Given the description of an element on the screen output the (x, y) to click on. 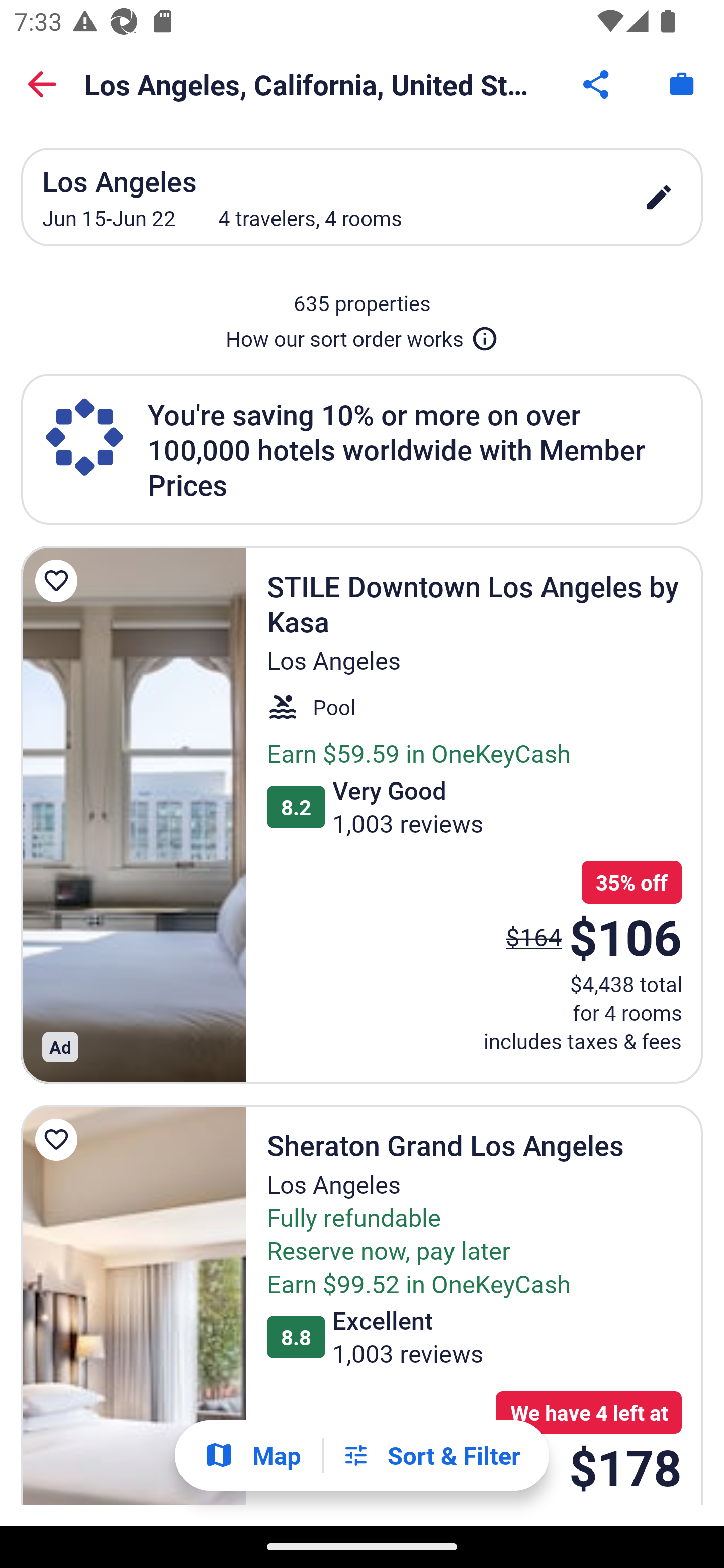
Back (42, 84)
Share Button (597, 84)
Trips. Button (681, 84)
How our sort order works (361, 334)
Save STILE Downtown Los Angeles by Kasa to a trip (59, 580)
STILE Downtown Los Angeles by Kasa (133, 814)
$164 The price was $164 (533, 936)
Save Sheraton Grand Los Angeles to a trip (59, 1139)
Sheraton Grand Los Angeles (133, 1304)
Filters Sort & Filter Filters Button (430, 1455)
Show map Map Show map Button (252, 1455)
